Given the description of an element on the screen output the (x, y) to click on. 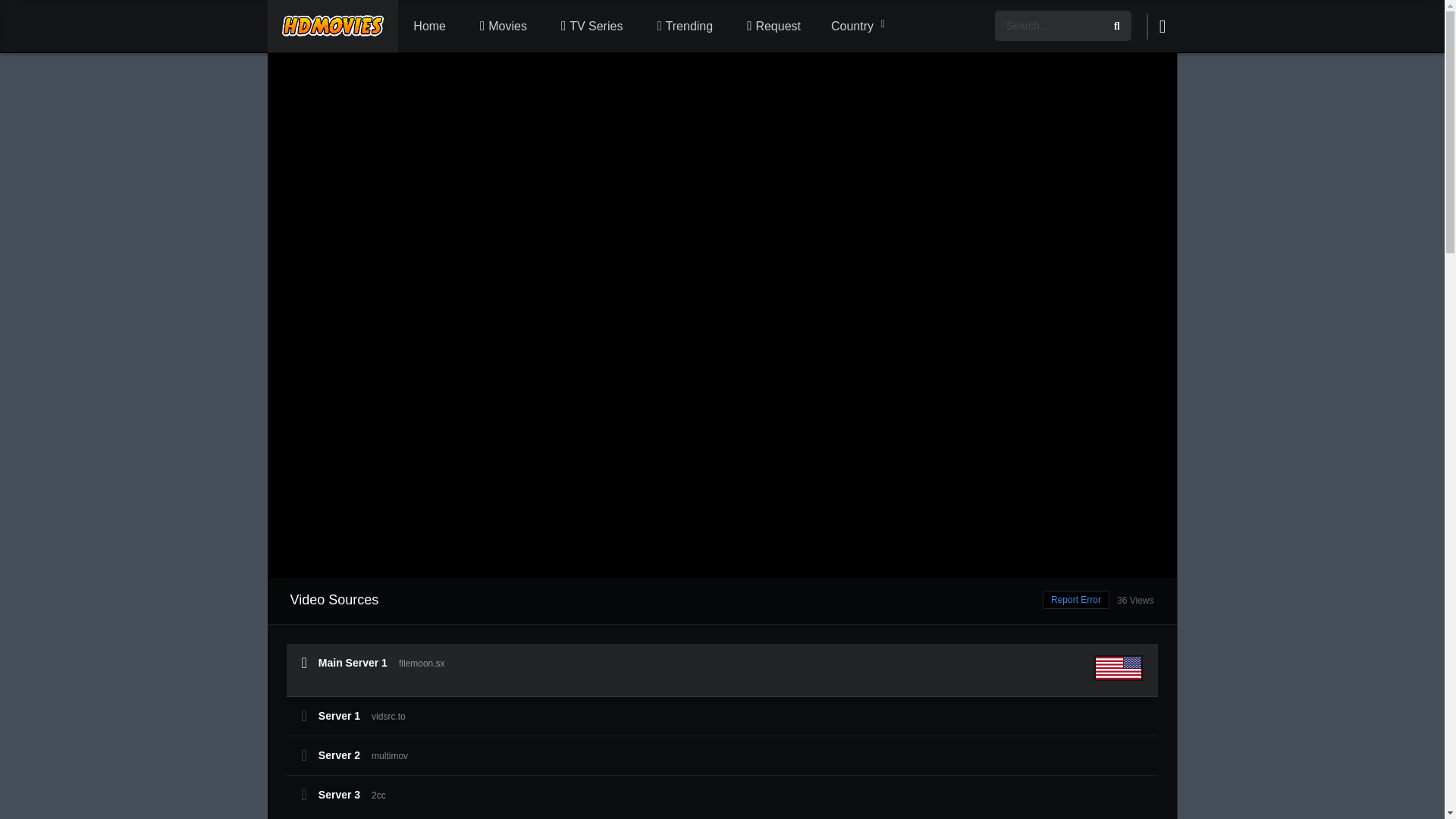
Movies (501, 26)
Request (771, 26)
Country (857, 26)
Report Error (1075, 599)
Home (429, 26)
TV Series (589, 26)
Trending (682, 26)
